Given the description of an element on the screen output the (x, y) to click on. 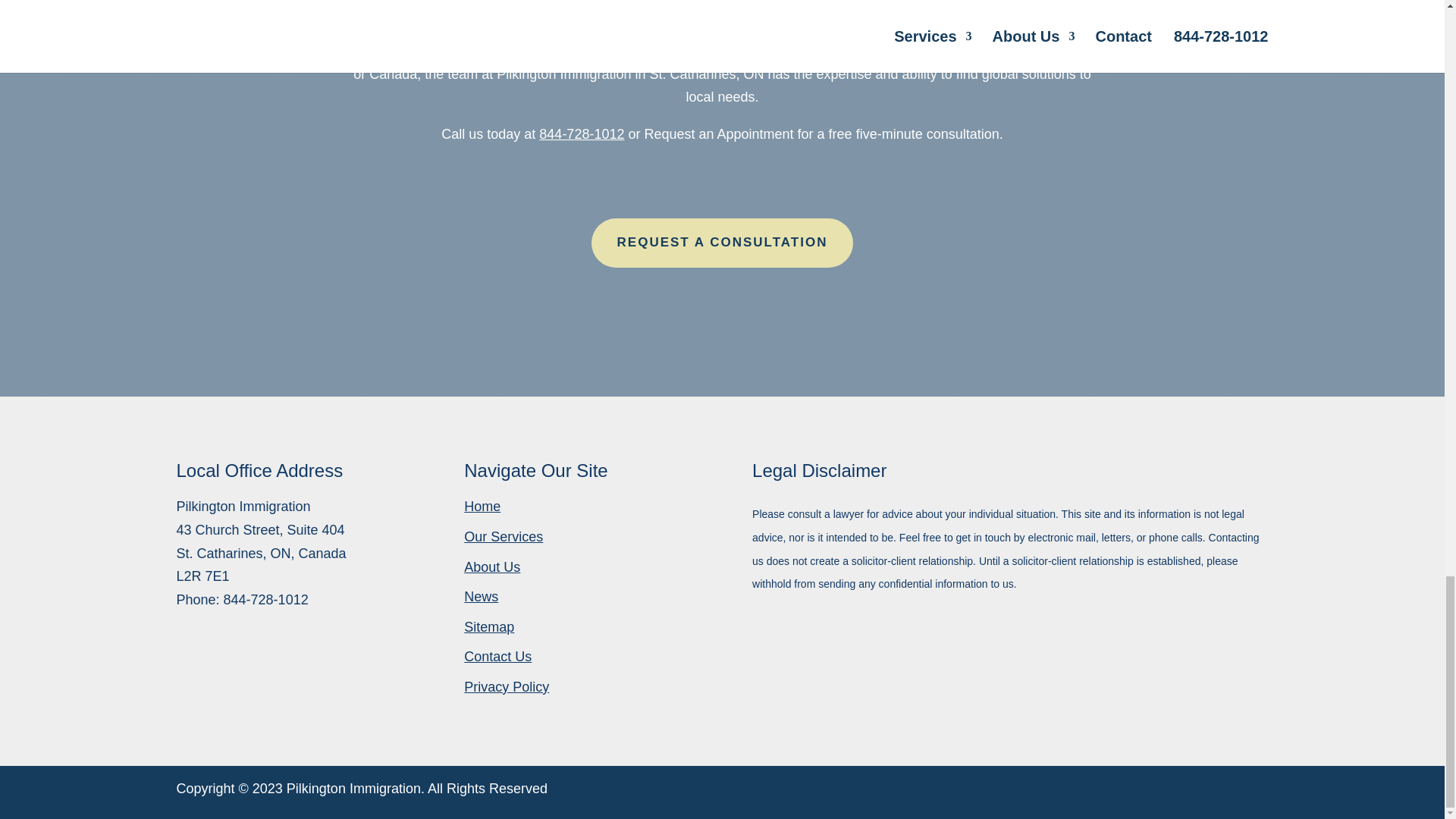
REQUEST A CONSULTATION (722, 242)
844-728-1012 (266, 599)
Sitemap (488, 626)
News (480, 596)
Privacy Policy (506, 686)
Contact Us (497, 656)
About Us (491, 566)
Home (482, 506)
844-728-1012 (581, 133)
Our Services (503, 536)
